Given the description of an element on the screen output the (x, y) to click on. 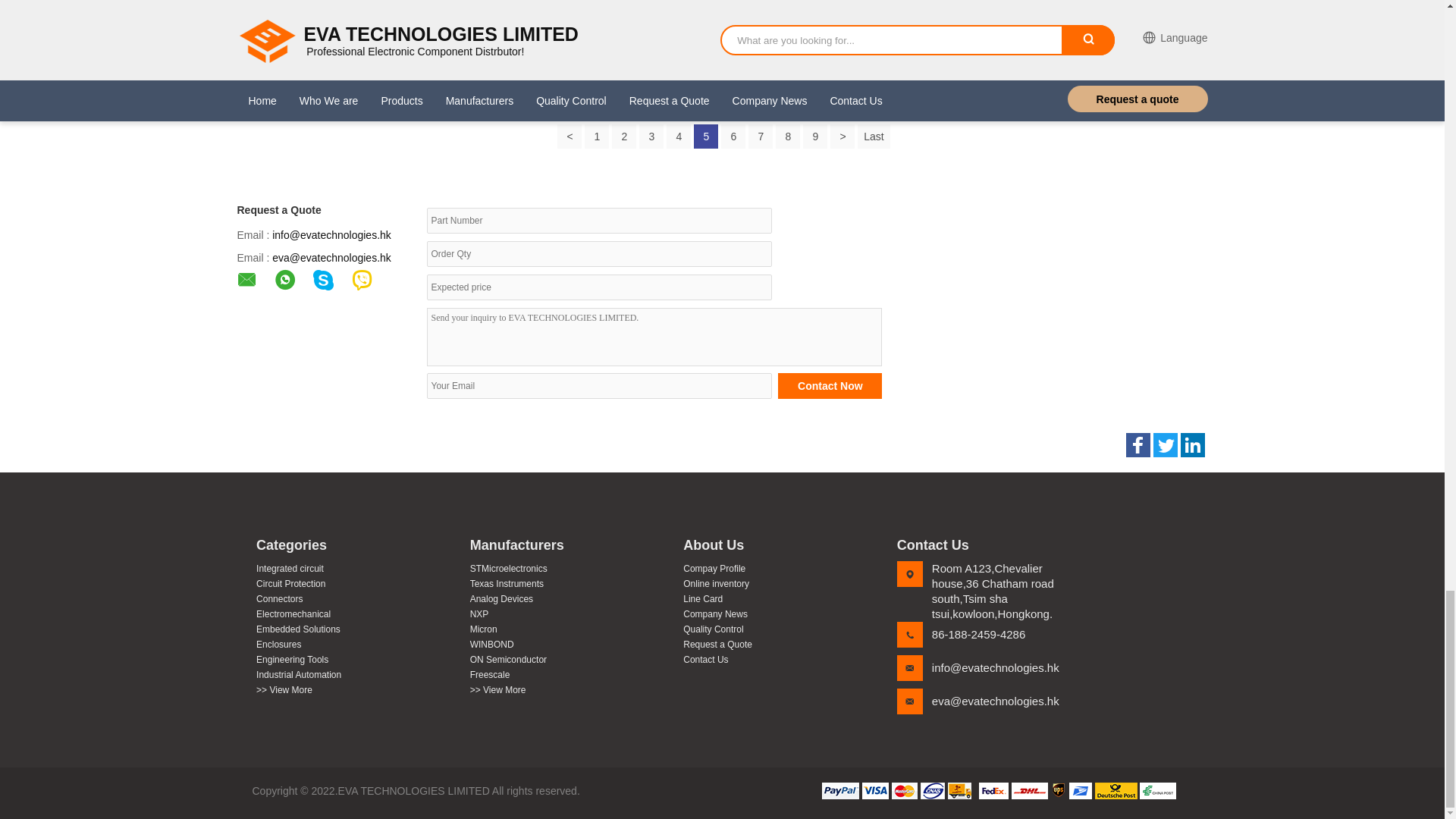
2 (623, 136)
4 (678, 136)
9 (815, 136)
1 (596, 136)
5 (705, 136)
  Last   (873, 136)
6 (732, 136)
8 (787, 136)
3 (651, 136)
7 (760, 136)
